Given the description of an element on the screen output the (x, y) to click on. 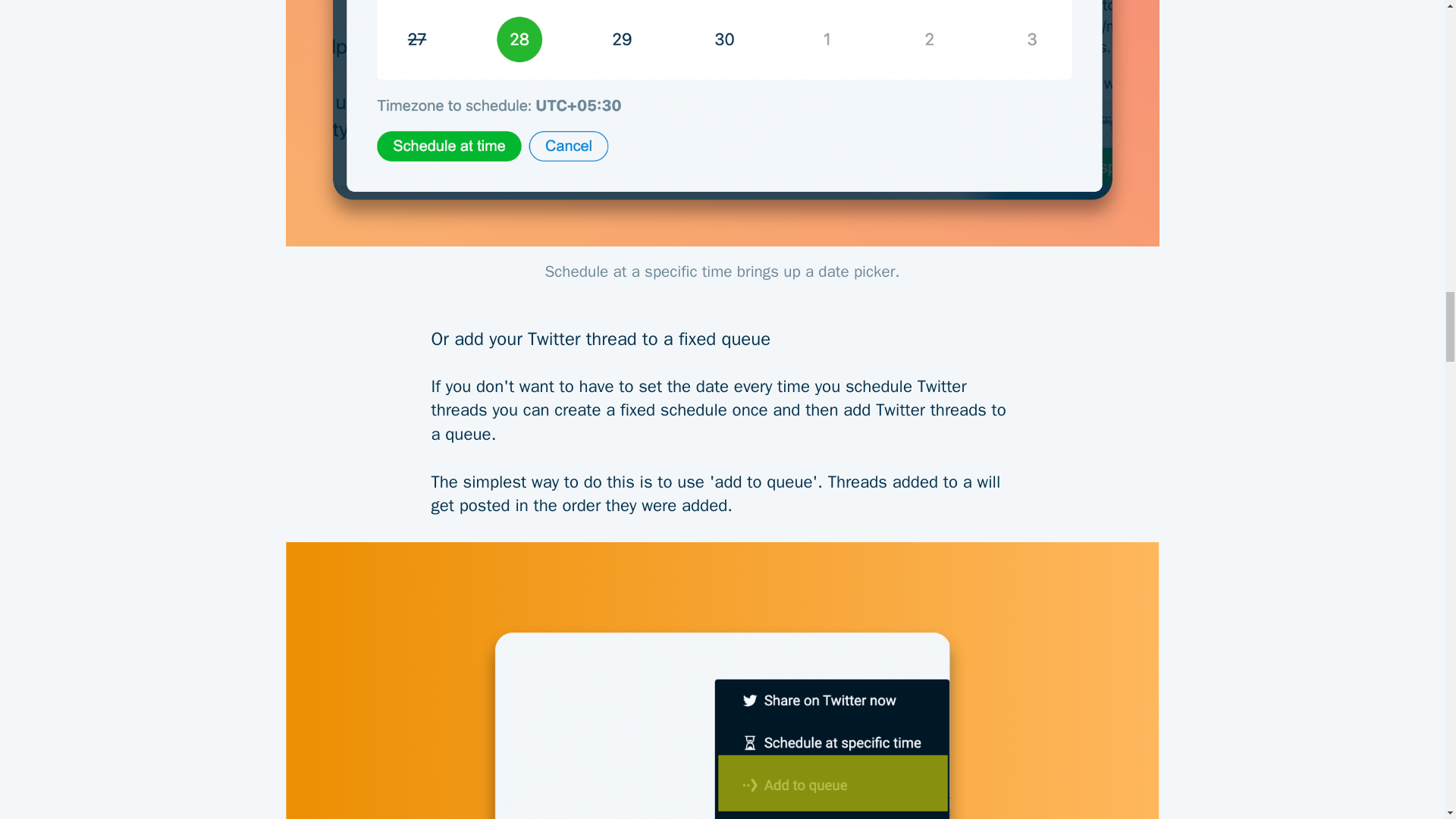
Or add your Twitter thread to a fixed queue (721, 326)
